Given the description of an element on the screen output the (x, y) to click on. 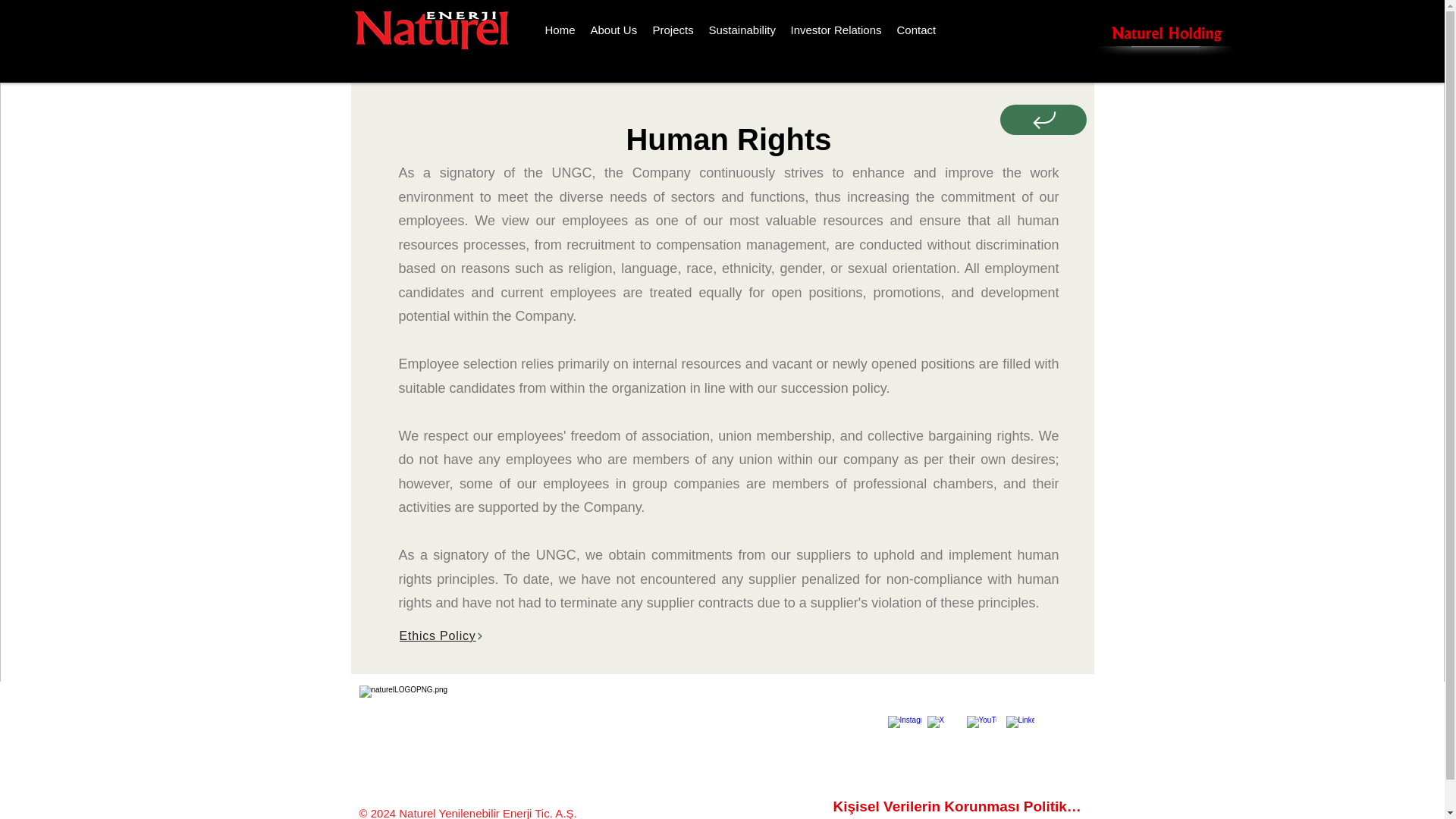
Projects (672, 29)
Sustainability (741, 29)
Ethics Policy (728, 636)
Investor Relations (835, 29)
Back (1044, 144)
About Us (613, 29)
Contact (915, 29)
Home (559, 29)
